Given the description of an element on the screen output the (x, y) to click on. 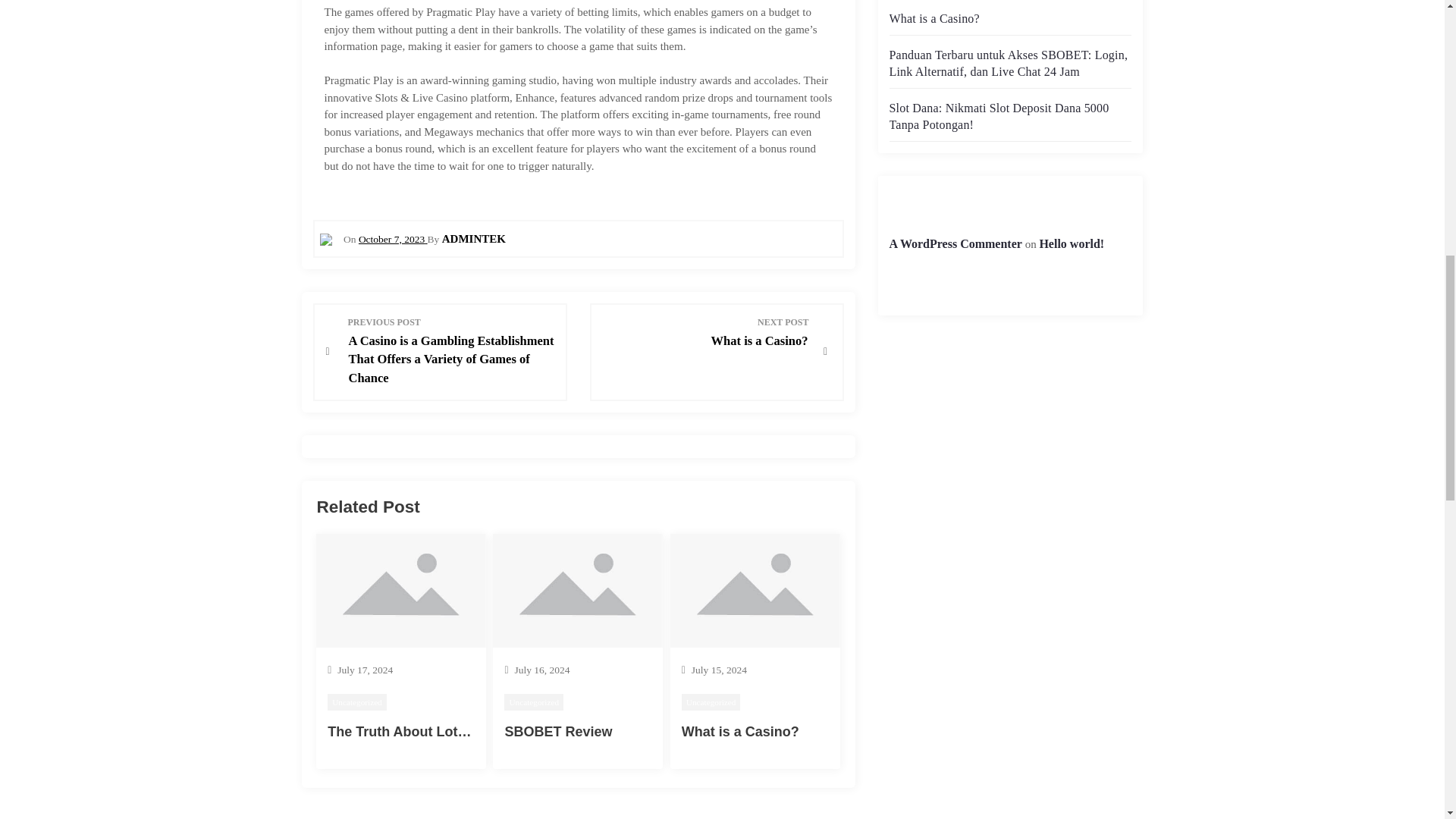
A WordPress Commenter (705, 332)
Uncategorized (955, 243)
The Truth About Lottery (533, 701)
Uncategorized (404, 731)
Slot Dana: Nikmati Slot Deposit Dana 5000 Tanpa Potongan! (711, 701)
SBOBET Review (998, 116)
Hello world! (557, 731)
October 7, 2023 (1071, 243)
Uncategorized (393, 238)
What is a Casino? (357, 701)
What is a Casino? (933, 18)
ADMINTEK (740, 731)
